Given the description of an element on the screen output the (x, y) to click on. 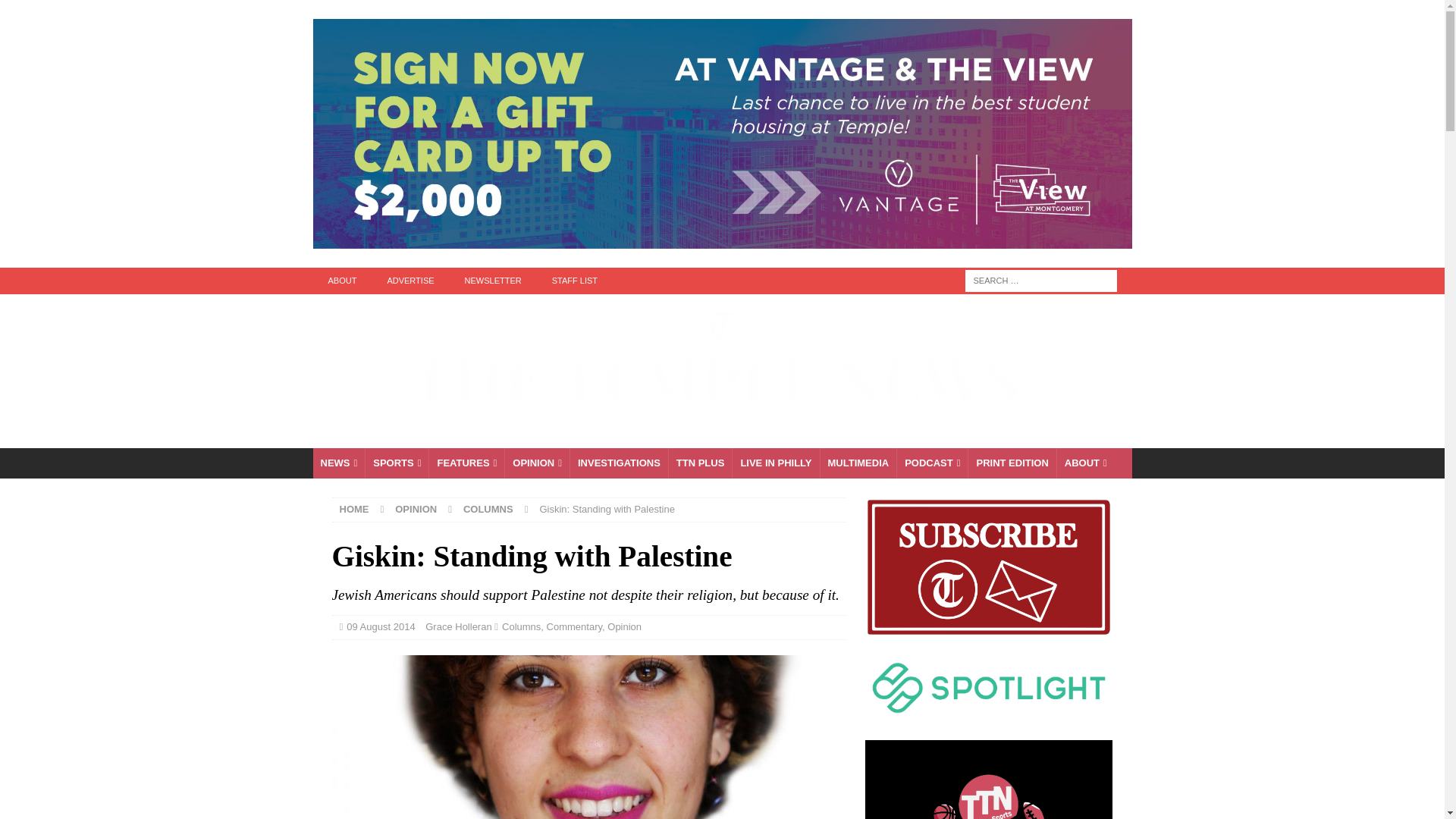
Search (56, 11)
NEWSLETTER (493, 280)
Longform (700, 463)
STAFF LIST (574, 280)
ADVERTISE (409, 280)
Sarah Giskin (588, 737)
ABOUT (342, 280)
Posts by Grace Holleran (458, 626)
